Given the description of an element on the screen output the (x, y) to click on. 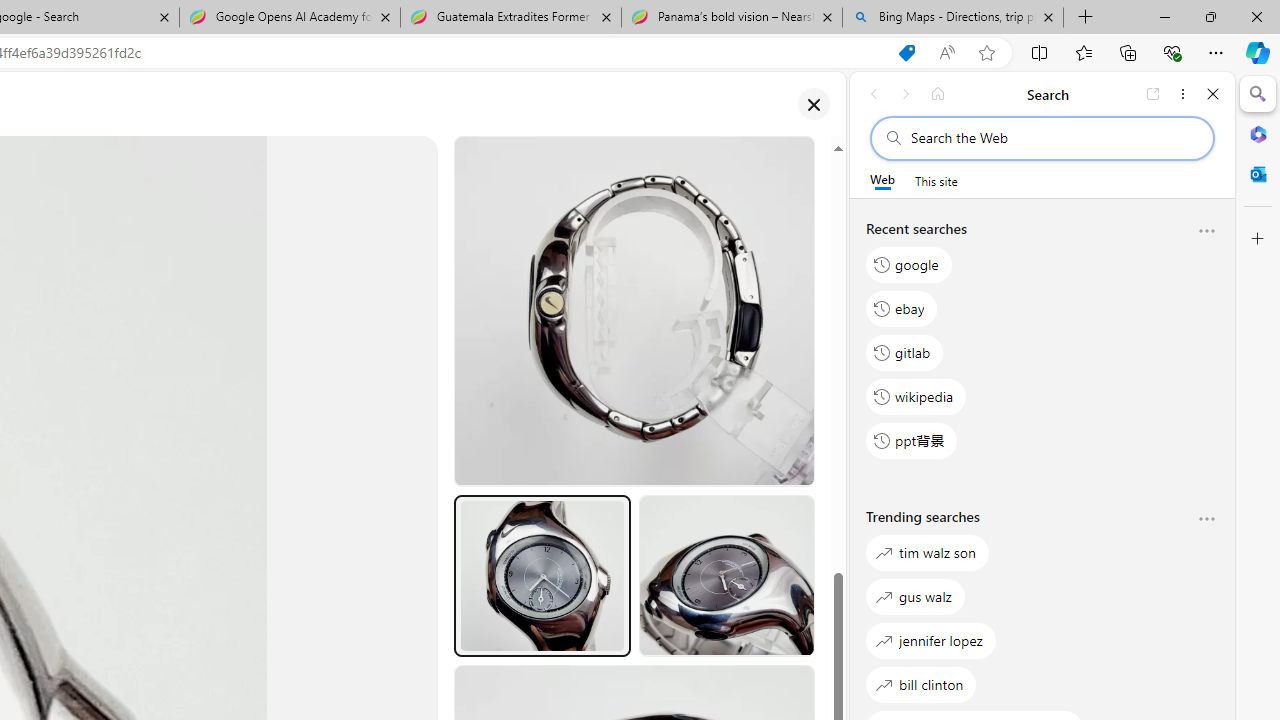
jennifer lopez (930, 640)
You have the best price! Shopping in Microsoft Edge (906, 53)
wikipedia (916, 396)
